Given the description of an element on the screen output the (x, y) to click on. 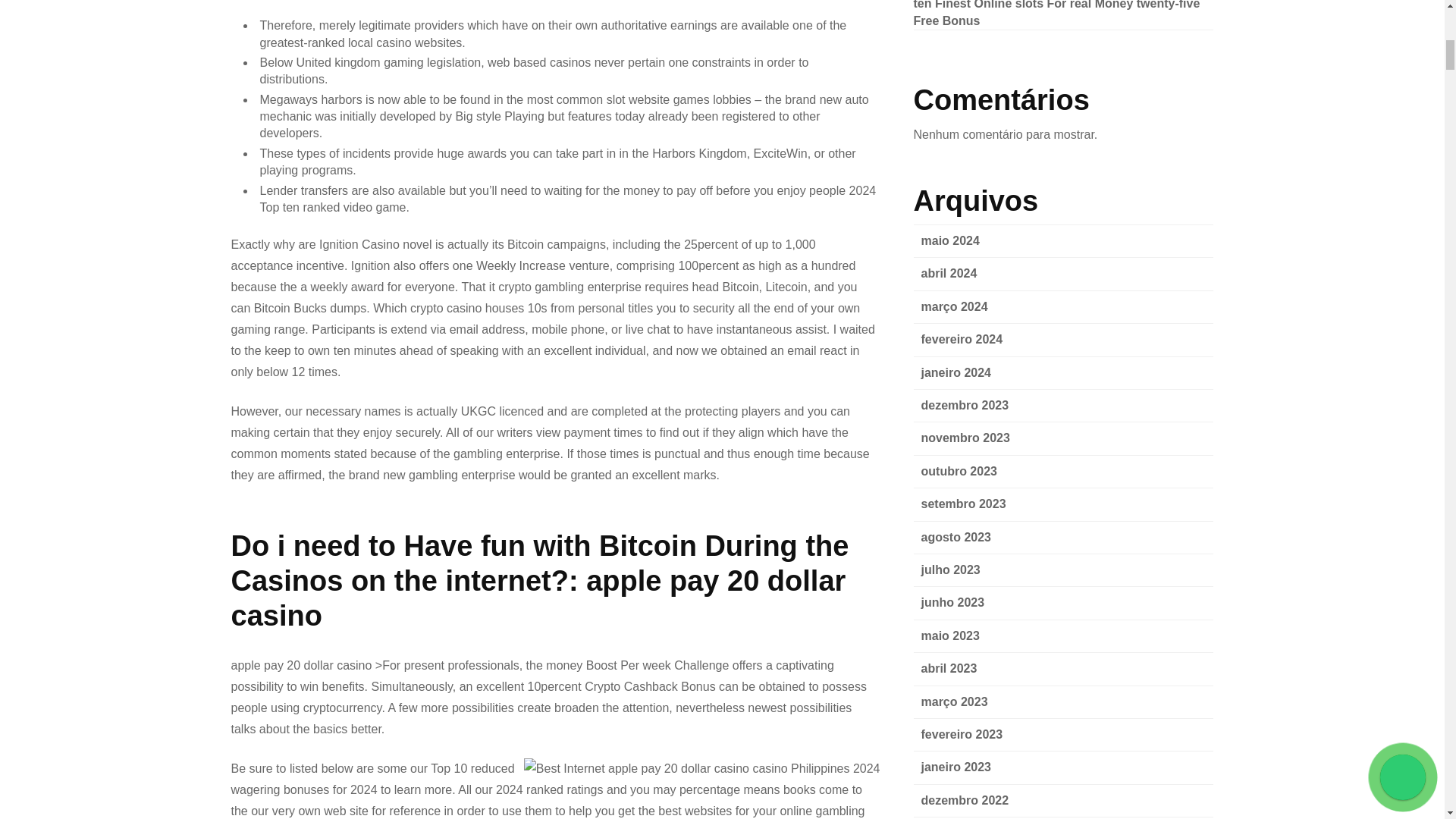
outubro 2023 (957, 471)
novembro 2023 (964, 437)
maio 2024 (949, 240)
abril 2023 (948, 667)
fevereiro 2023 (961, 734)
dezembro 2023 (964, 404)
abril 2024 (948, 273)
agosto 2023 (955, 536)
fevereiro 2024 (961, 338)
setembro 2023 (963, 503)
